Given the description of an element on the screen output the (x, y) to click on. 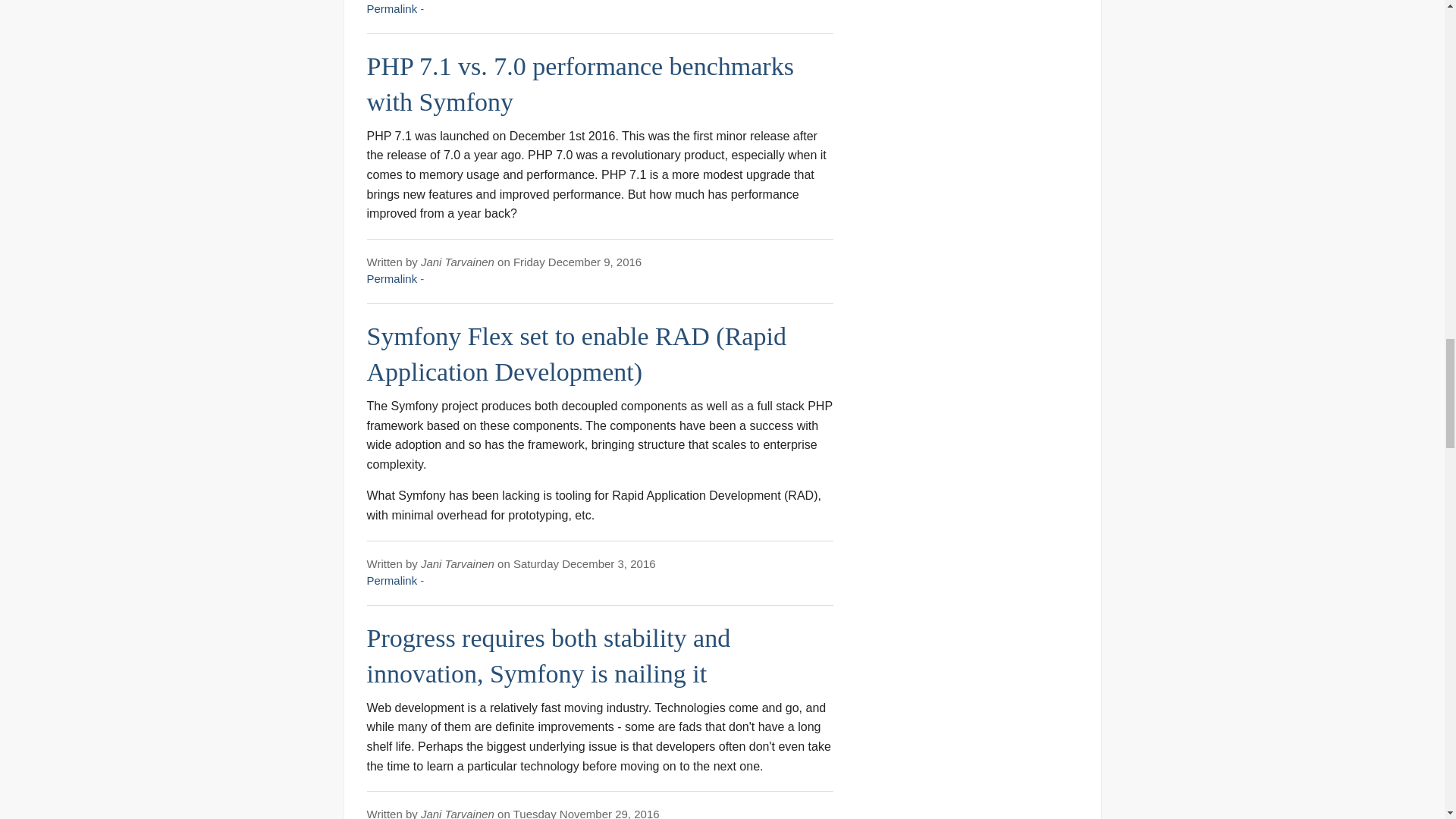
Permalink (391, 8)
Permalink (391, 278)
PHP 7.1 vs. 7.0 performance benchmarks with Symfony (579, 84)
Permalink (391, 580)
